Given the description of an element on the screen output the (x, y) to click on. 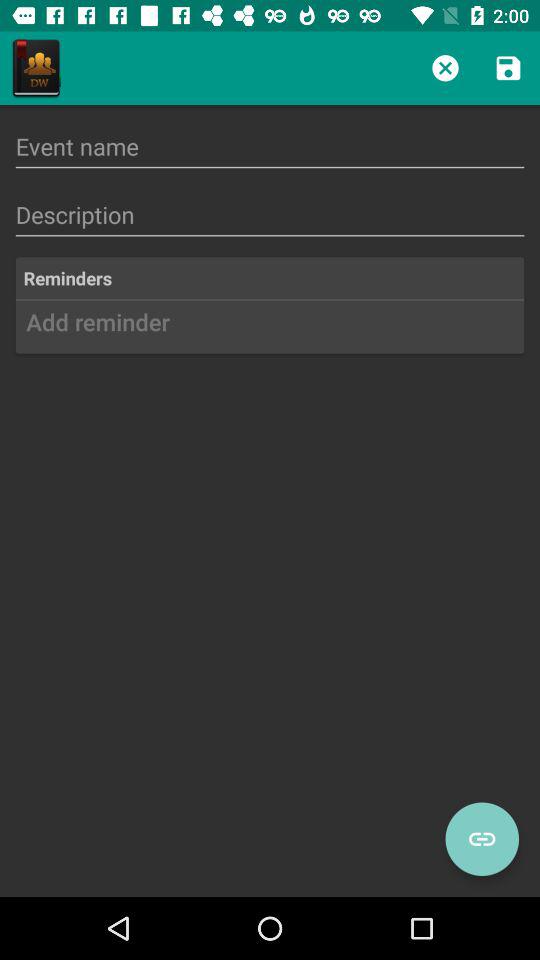
turn on add reminder icon (269, 329)
